Given the description of an element on the screen output the (x, y) to click on. 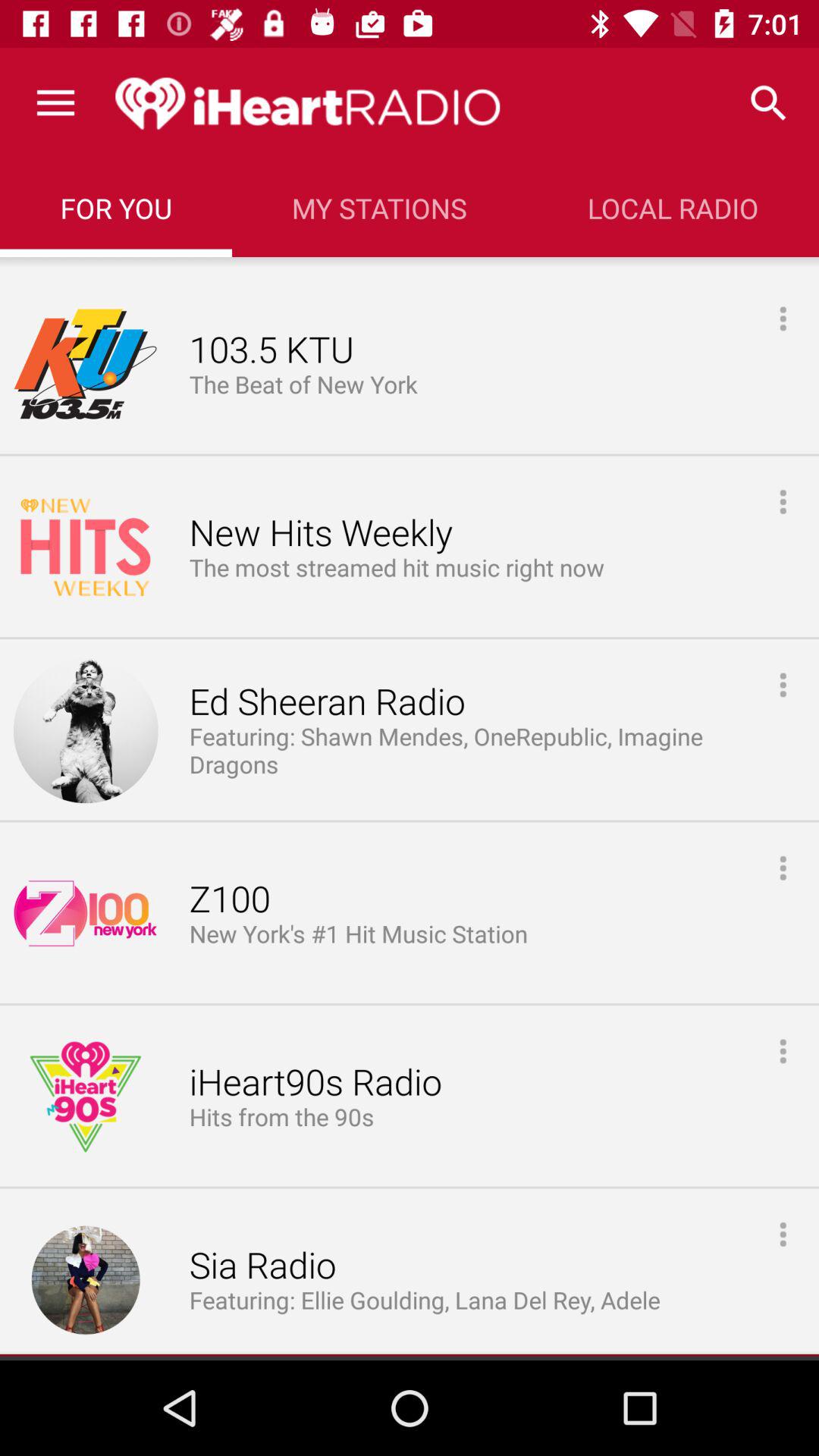
turn on the icon to the right of the my stations (769, 103)
